Given the description of an element on the screen output the (x, y) to click on. 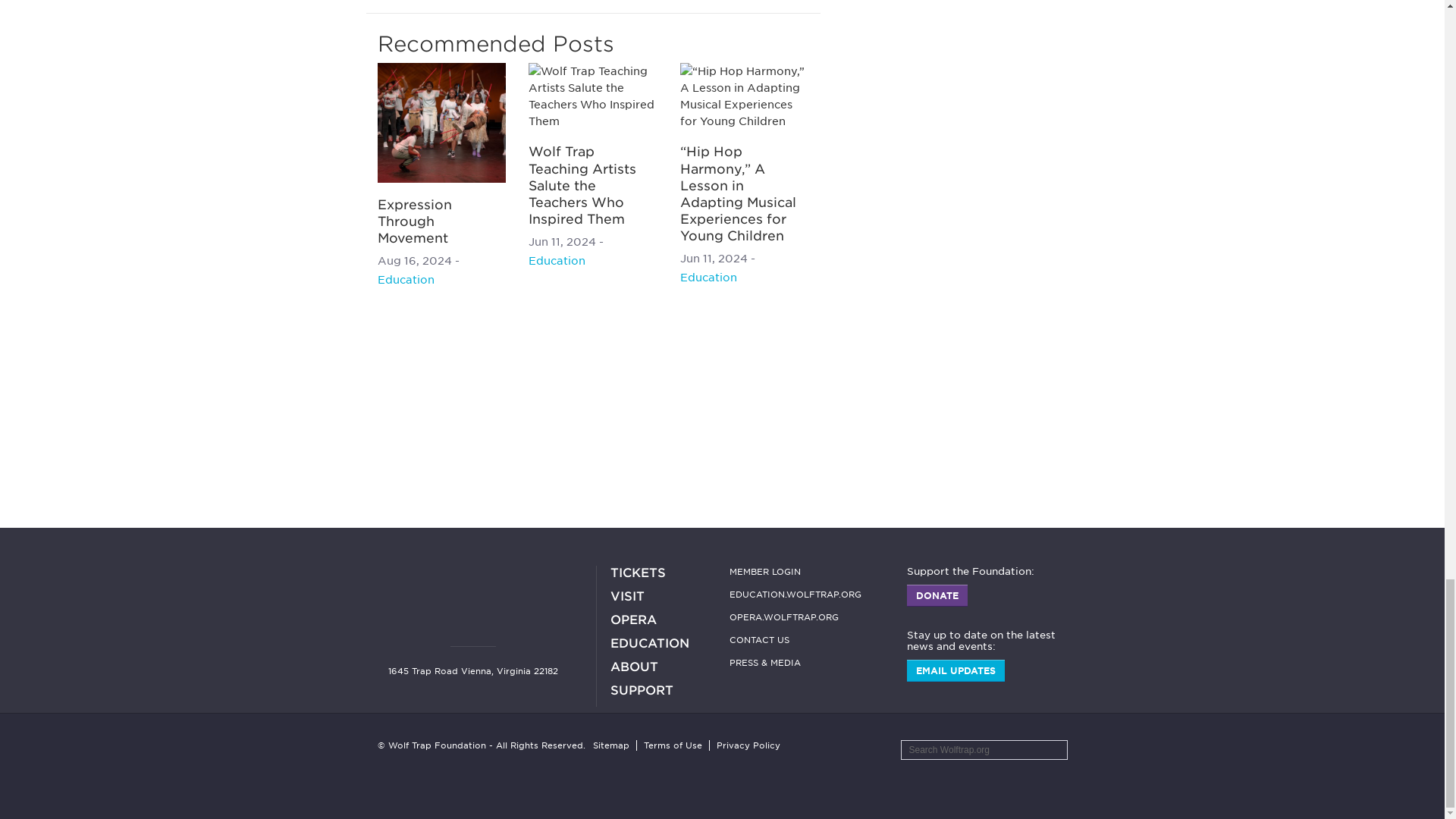
Expression Through Movement (414, 221)
Education (556, 260)
Education (405, 279)
Search (1051, 750)
Education (707, 277)
